Given the description of an element on the screen output the (x, y) to click on. 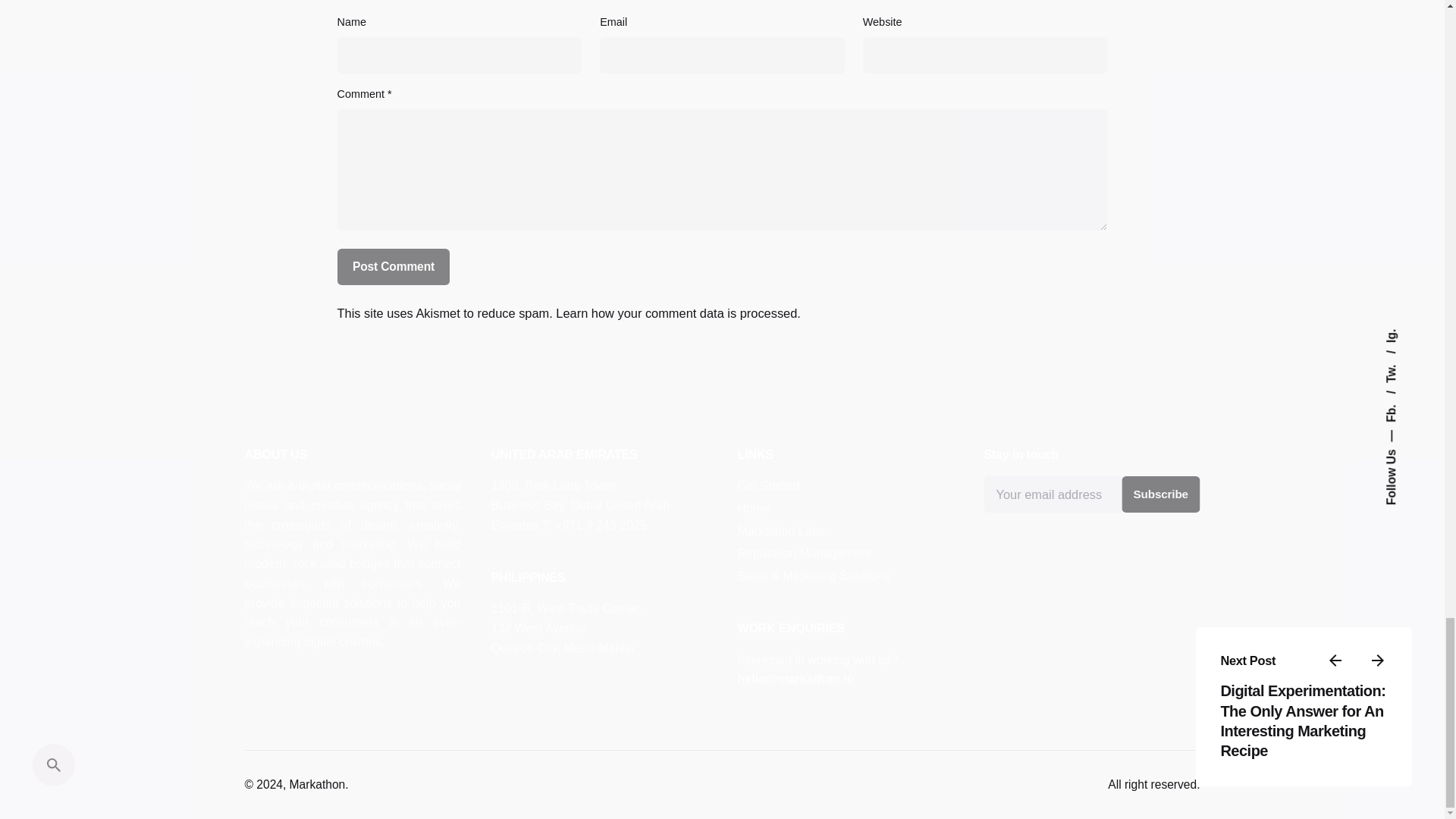
Home (753, 508)
Subscribe (1160, 493)
Reputation Management (803, 552)
Markathon Labs (780, 530)
Subscribe (1160, 493)
Post Comment (393, 266)
Get Started (767, 485)
Learn how your comment data is processed (676, 313)
Post Comment (393, 266)
